Given the description of an element on the screen output the (x, y) to click on. 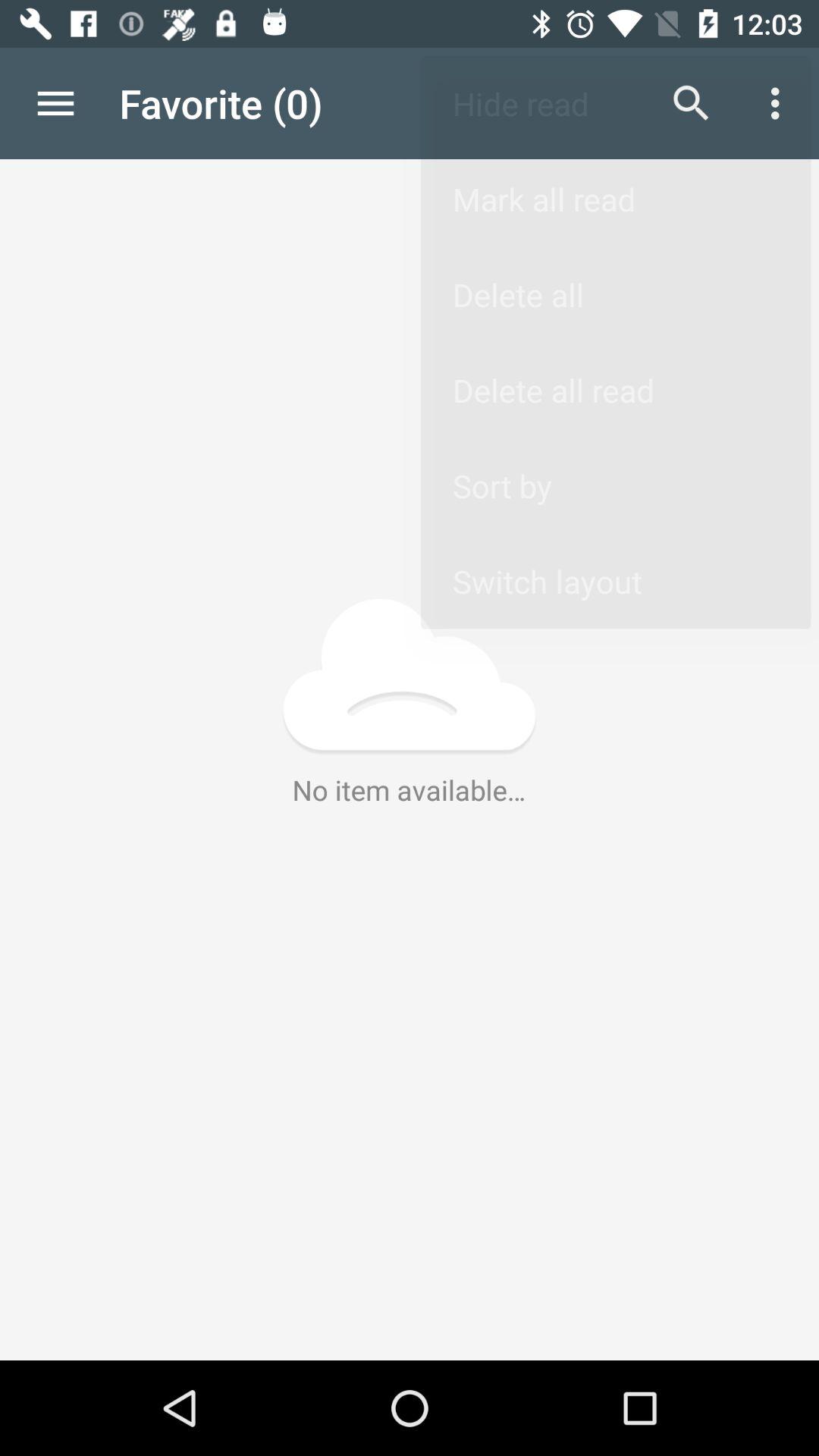
launch item next to favorite (0) icon (55, 103)
